Given the description of an element on the screen output the (x, y) to click on. 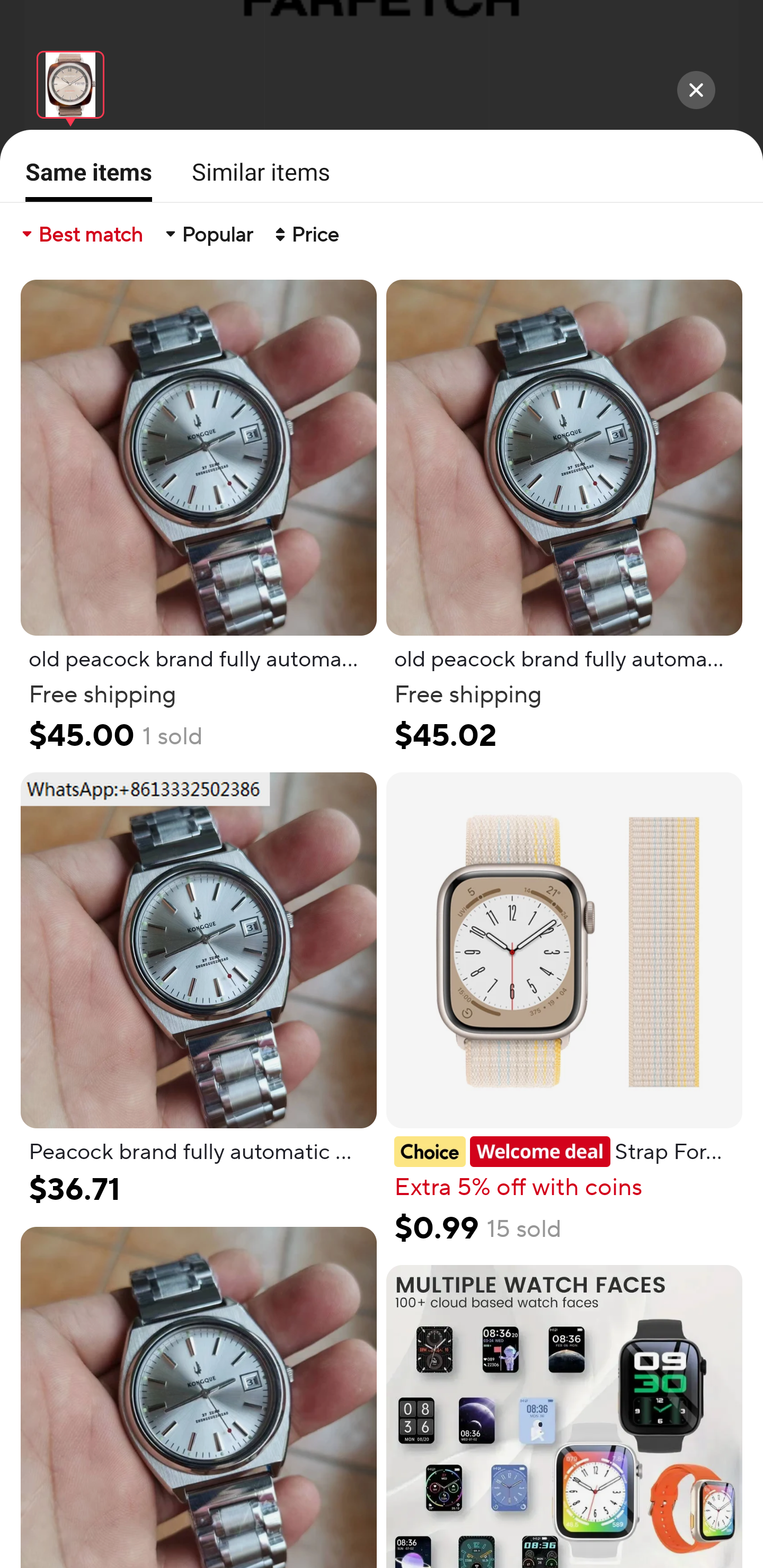
Same items (83, 178)
Similar items (255, 171)
Best match (81, 234)
Popular (207, 234)
Price (305, 234)
